Given the description of an element on the screen output the (x, y) to click on. 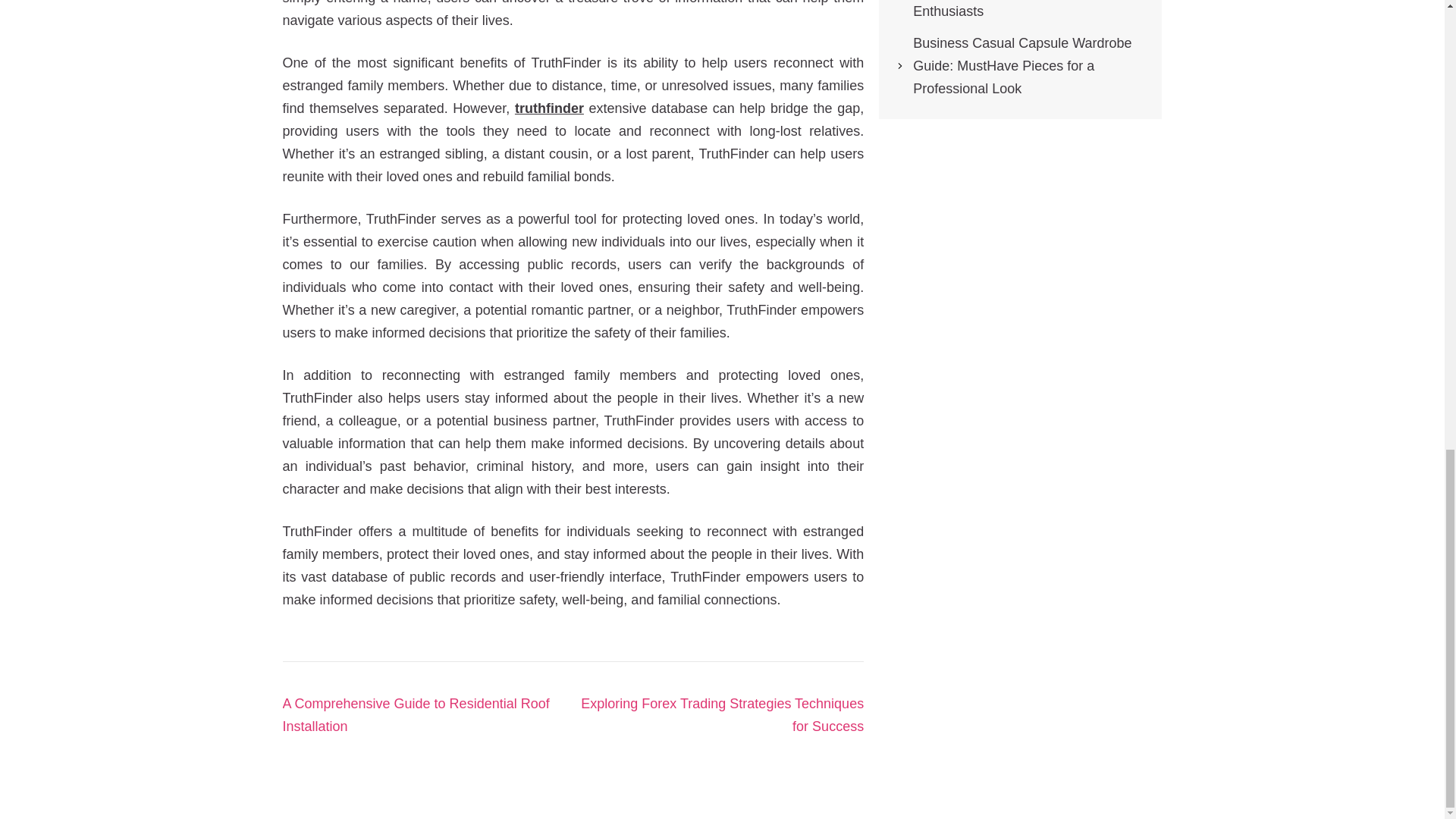
truthfinder (549, 108)
A Comprehensive Guide to Residential Roof Installation (415, 714)
Exploring Forex Trading Strategies Techniques for Success (721, 714)
